Given the description of an element on the screen output the (x, y) to click on. 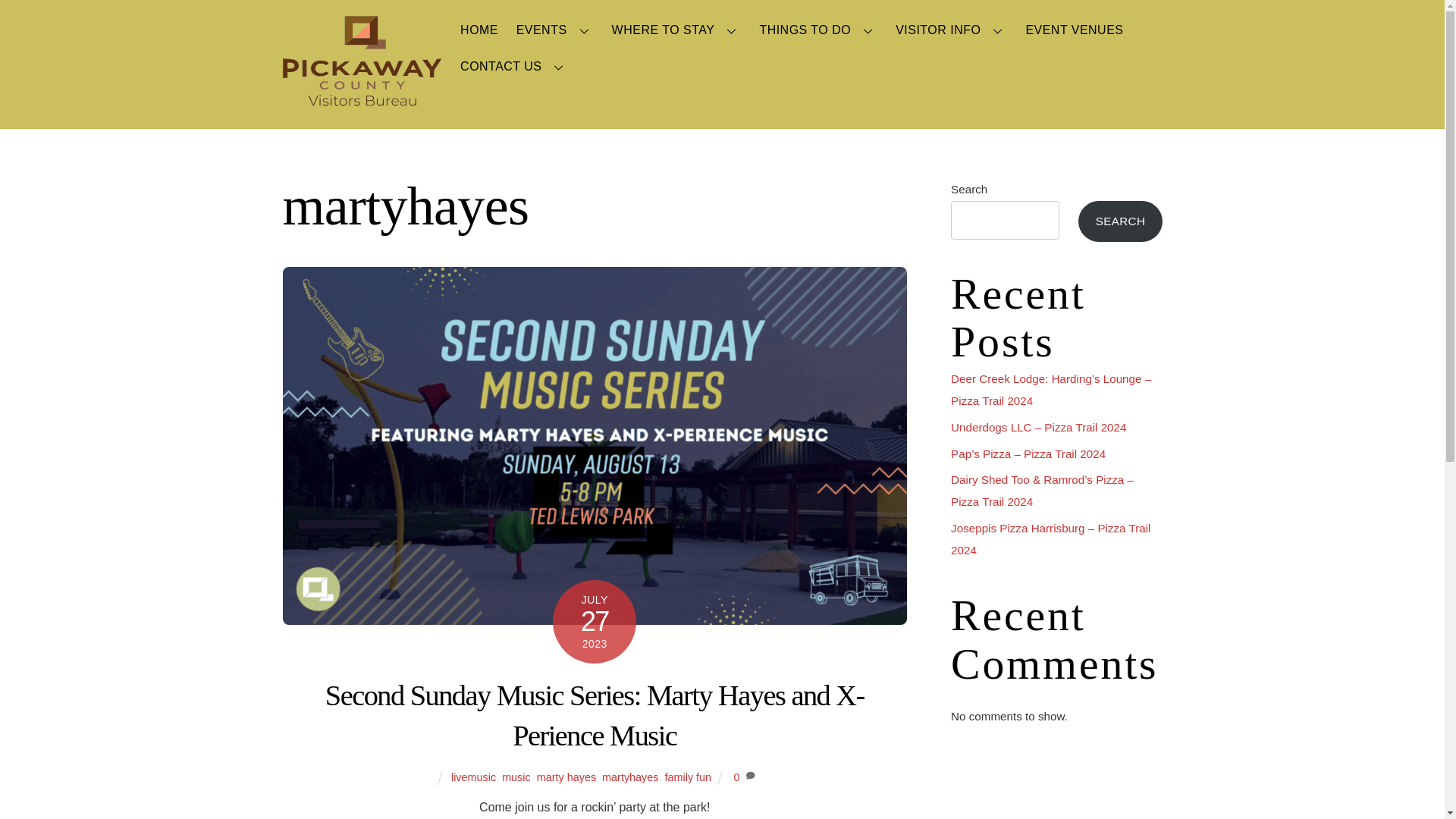
CONTACT US (514, 66)
family fun (687, 776)
VISITOR INFO (951, 30)
music (516, 776)
EVENTS (554, 30)
livemusic (473, 776)
Pickaway County Visitors Bureau (361, 98)
EVENT VENUES (1074, 30)
Second Sunday Music Series: Marty Hayes and X-Perience Music (594, 715)
